Given the description of an element on the screen output the (x, y) to click on. 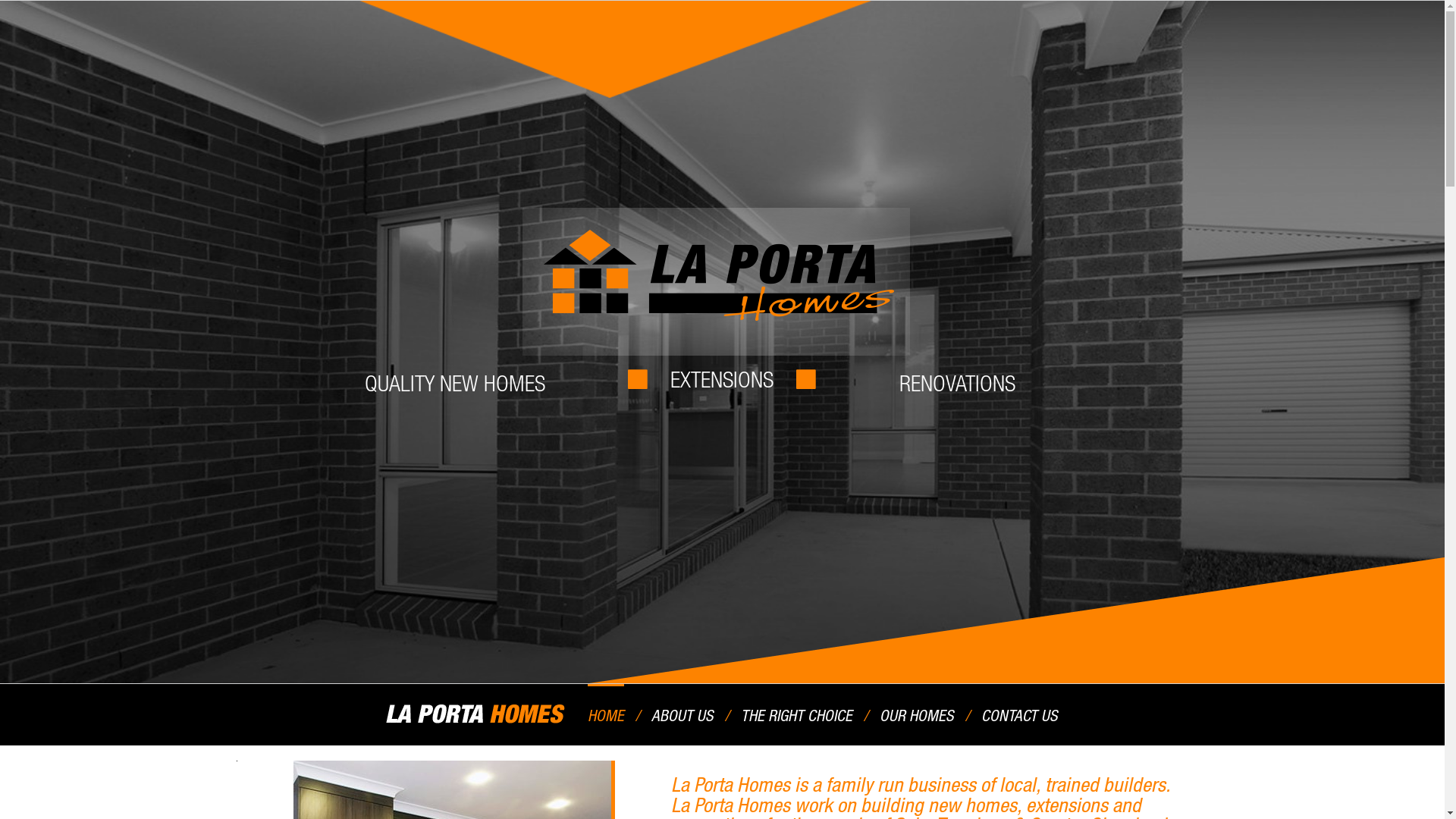
/ Element type: text (637, 714)
/ Element type: text (967, 714)
THE RIGHT CHOICE Element type: text (796, 714)
CONTACT US Element type: text (1019, 714)
ABOUT US Element type: text (682, 714)
/ Element type: text (865, 714)
HOME Element type: text (605, 714)
OUR HOMES Element type: text (916, 714)
/ Element type: text (726, 714)
